Given the description of an element on the screen output the (x, y) to click on. 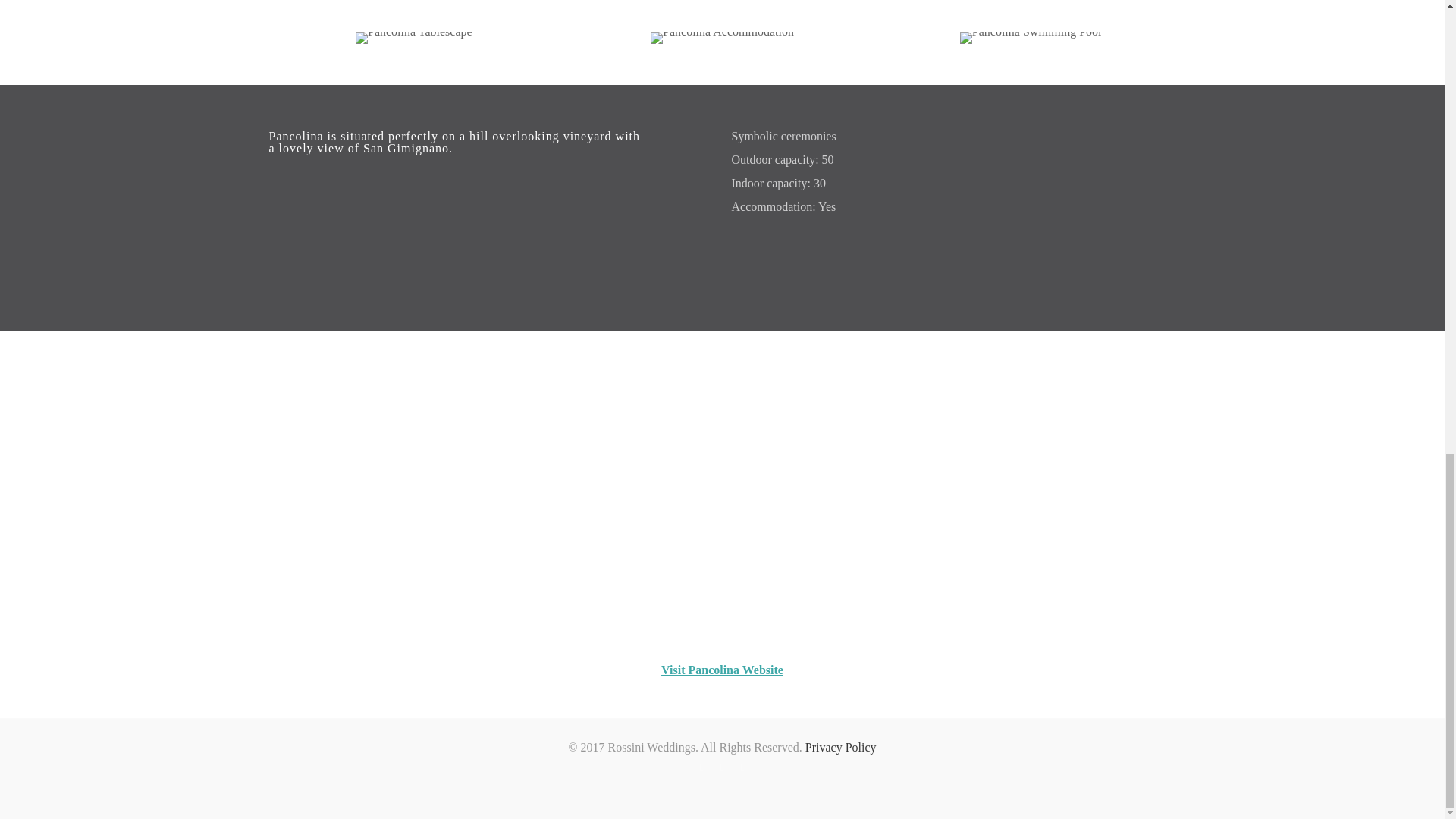
Pinterest (722, 767)
Instagram (743, 767)
Visit Pancolina Website (722, 669)
Facebook (702, 767)
Privacy Policy (840, 747)
